Given the description of an element on the screen output the (x, y) to click on. 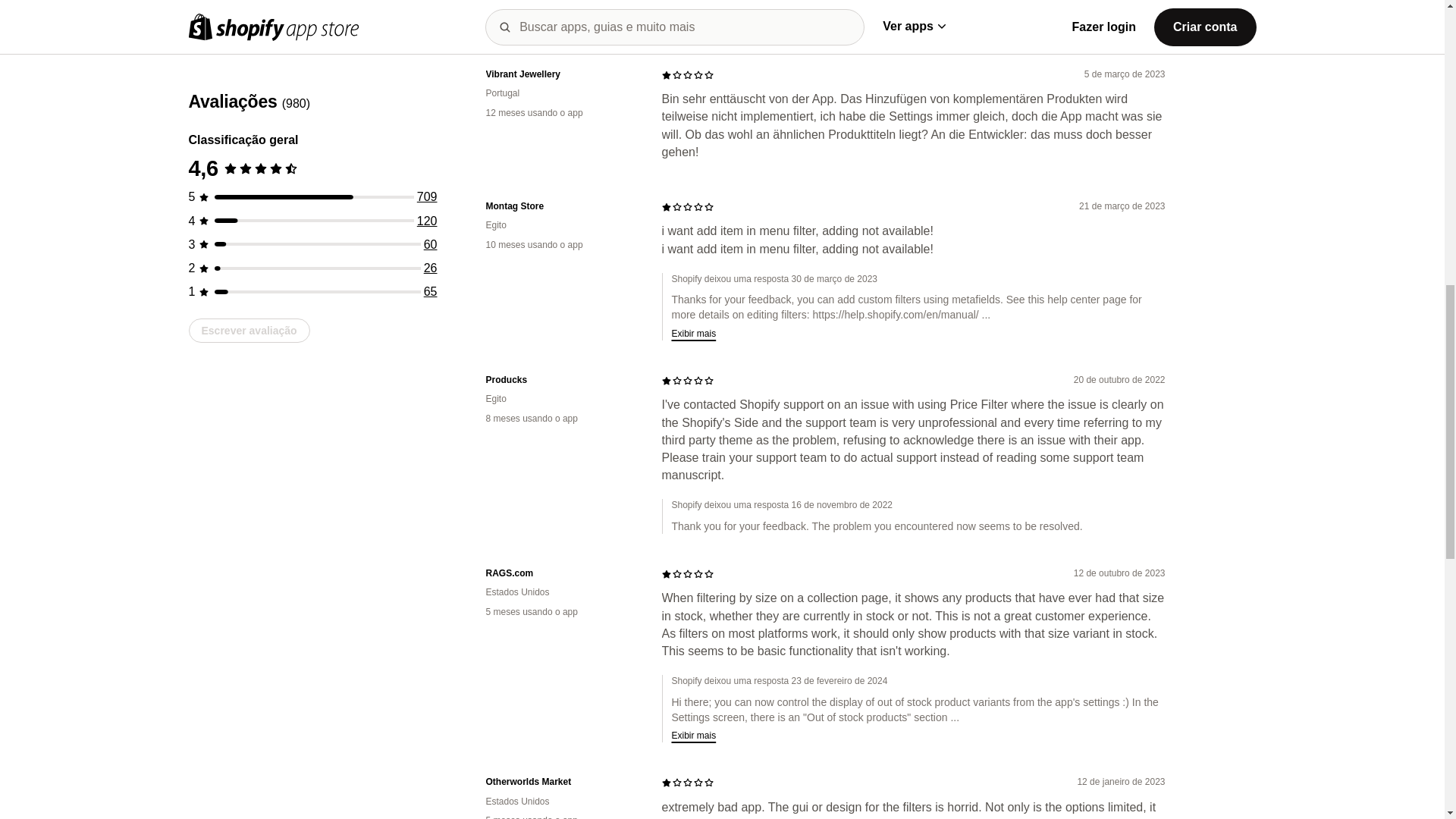
Vibrant Jewellery (560, 74)
Otherworlds Market (560, 781)
RAGS.com (560, 573)
Montag Store (560, 205)
Producks (560, 379)
